Given the description of an element on the screen output the (x, y) to click on. 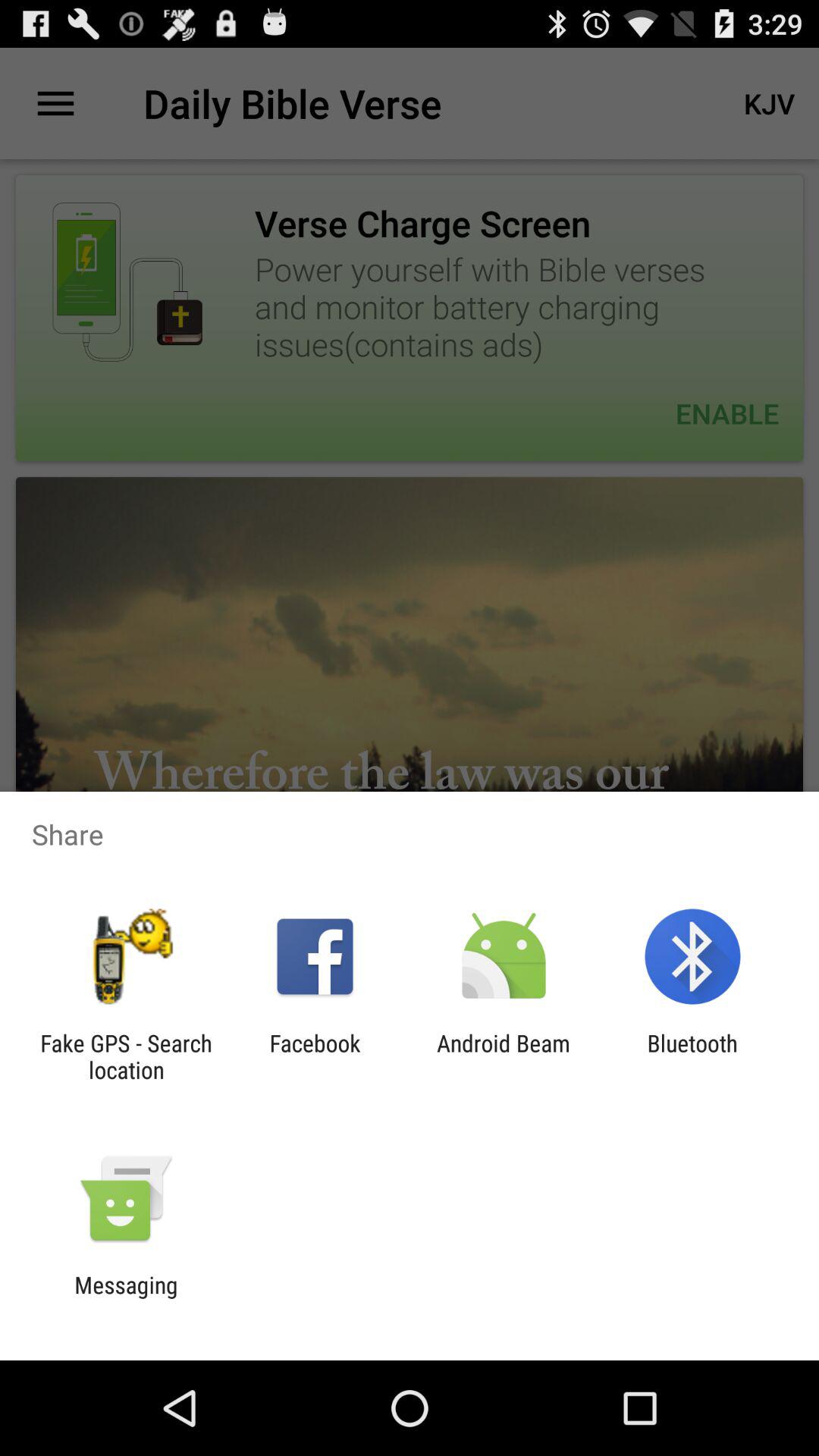
scroll until facebook icon (314, 1056)
